Given the description of an element on the screen output the (x, y) to click on. 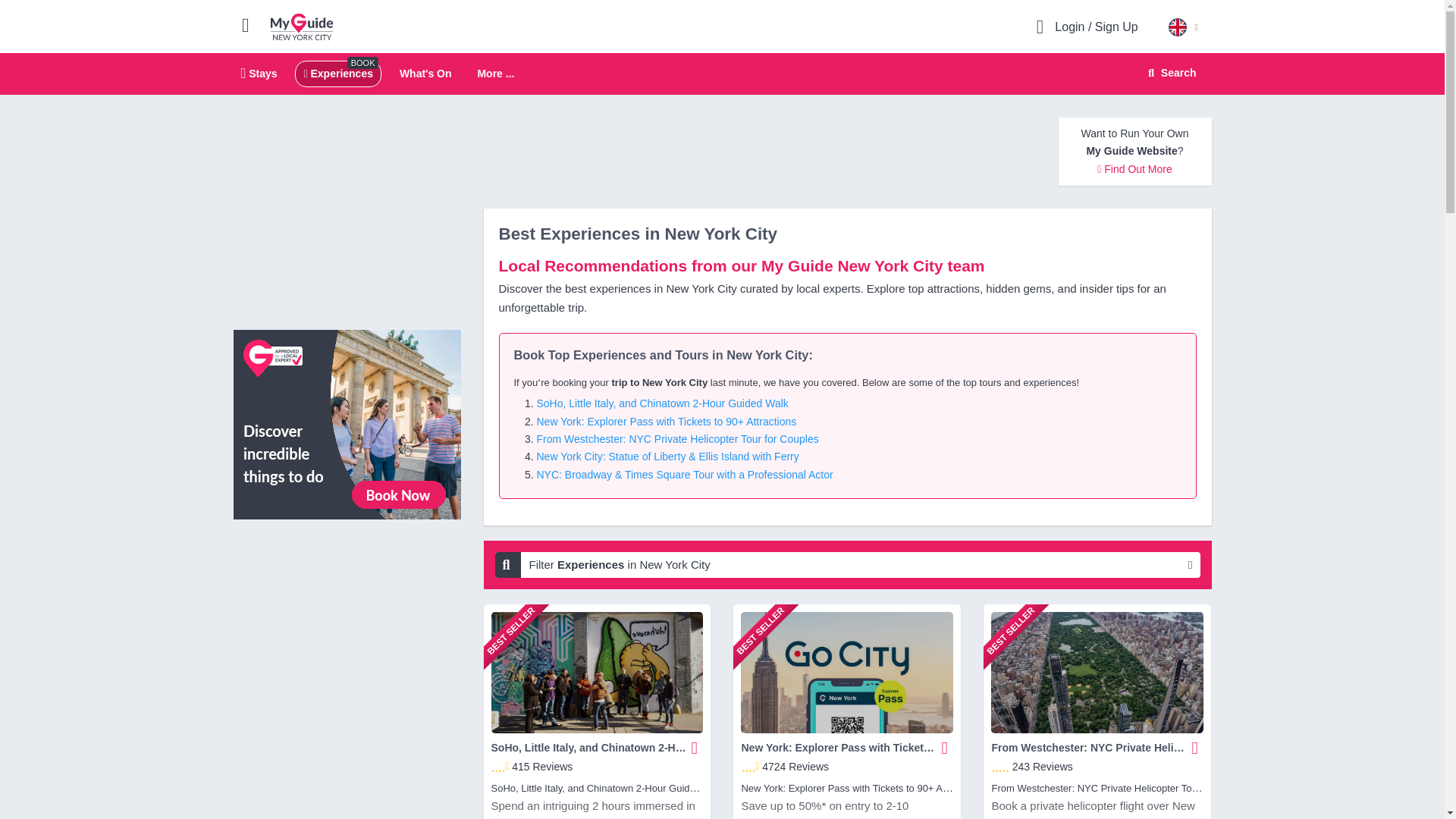
GetYourGuide Widget (346, 599)
Experiences (337, 73)
Search (1169, 72)
My Guide New York City (721, 74)
What's On (301, 25)
More ... (424, 73)
Stays (495, 73)
